Given the description of an element on the screen output the (x, y) to click on. 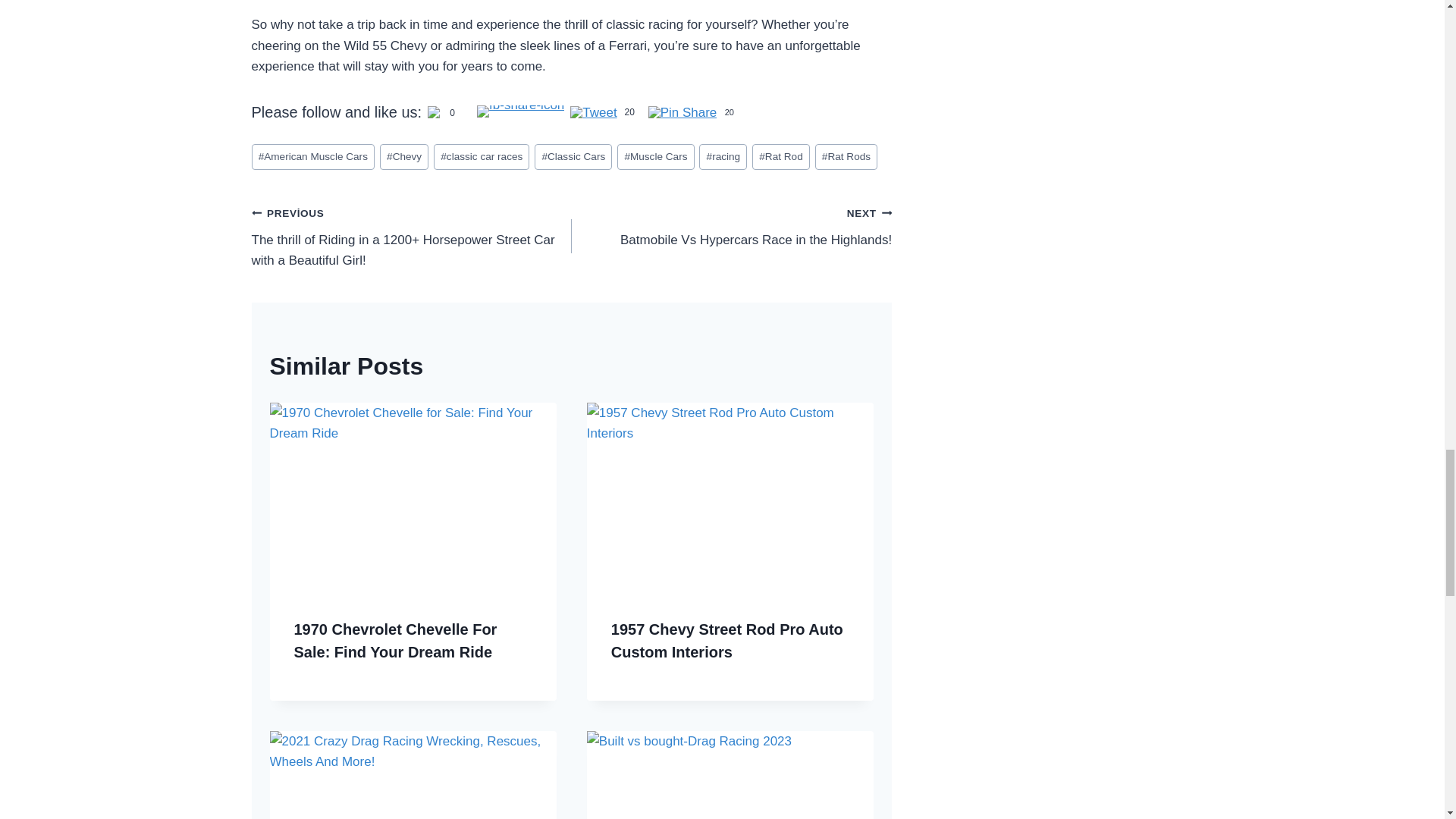
Rat Rod (731, 226)
Pin Share (780, 157)
Chevy (682, 113)
Muscle Cars (404, 157)
Classic Cars (655, 157)
American Muscle Cars (572, 157)
racing (313, 157)
Rat Rods (722, 157)
1970 Chevrolet Chevelle For Sale: Find Your Dream Ride (846, 157)
